Given the description of an element on the screen output the (x, y) to click on. 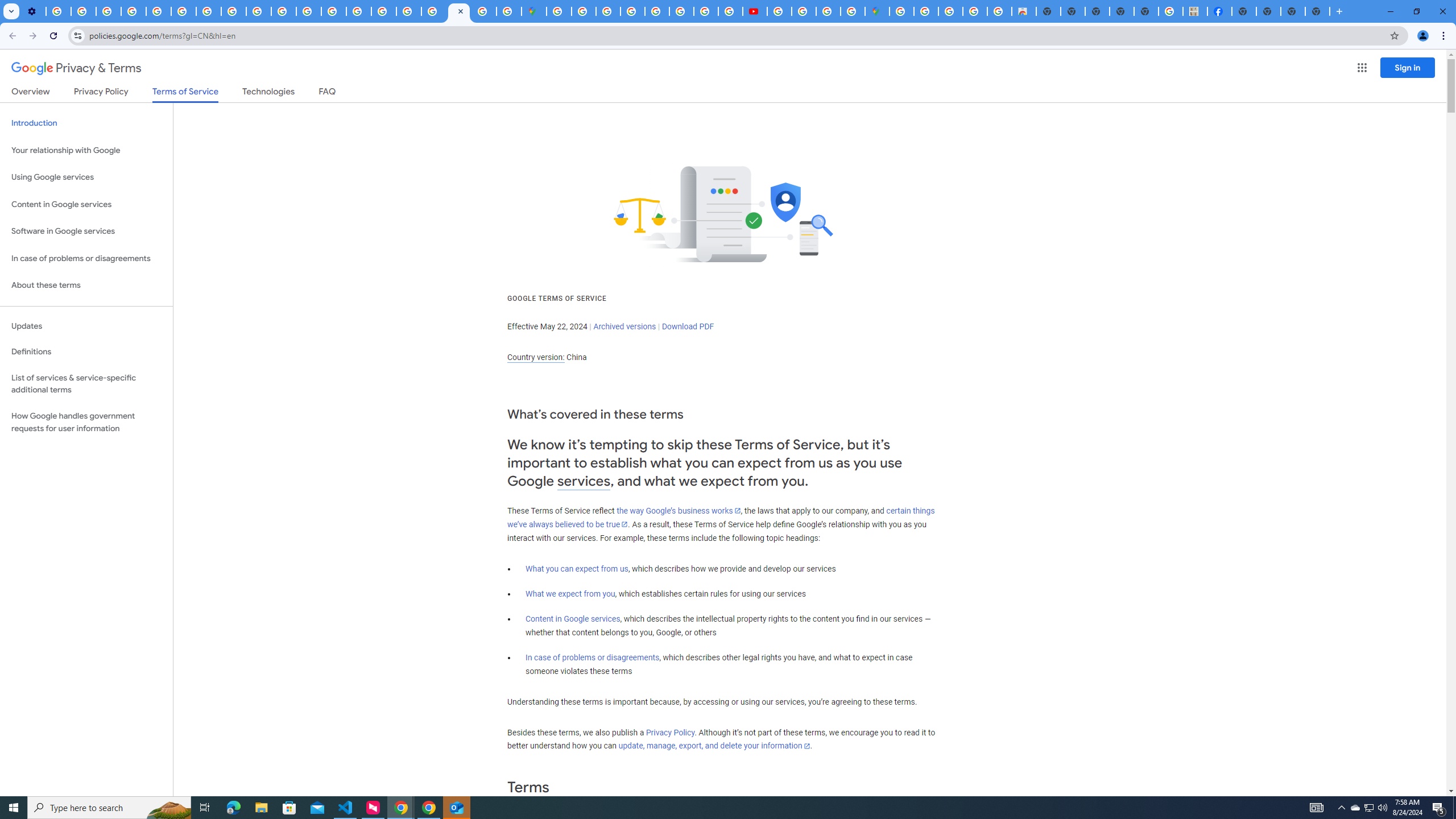
Introduction (86, 122)
Country version: (535, 357)
Sign in - Google Accounts (900, 11)
About these terms (86, 284)
Chrome Web Store - Shopping (1023, 11)
How Google handles government requests for user information (86, 422)
Settings - Customize profile (33, 11)
Updates (86, 325)
Sign in - Google Accounts (558, 11)
